Given the description of an element on the screen output the (x, y) to click on. 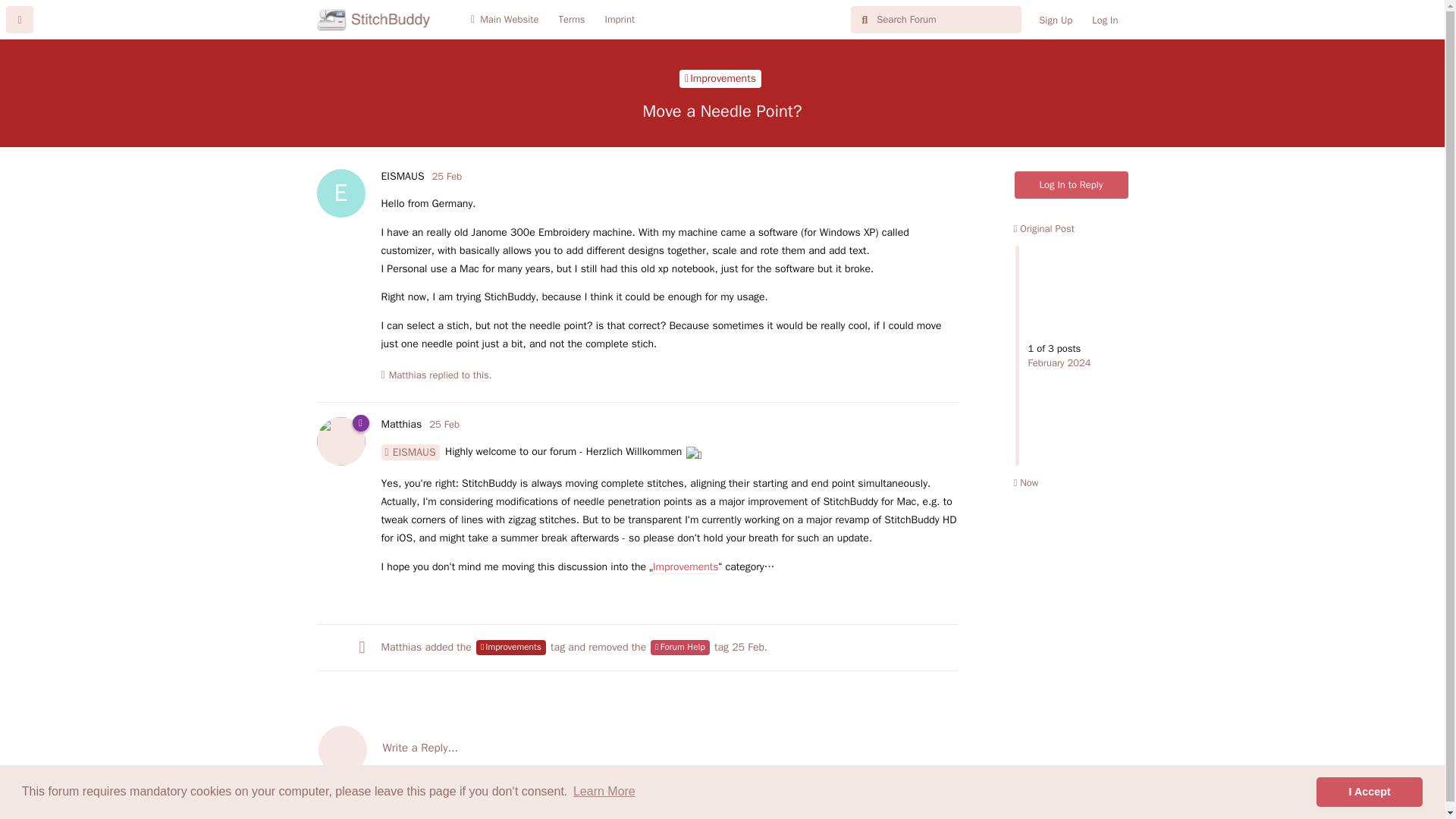
Sunday, February 25, 2024 3:13 AM (748, 646)
25 Feb (444, 423)
Forum Help (679, 647)
Original Post (1043, 228)
Sign Up (1055, 19)
Improvements (511, 647)
EISMAUS (409, 452)
Matthias (407, 375)
Improvements (685, 567)
